Given the description of an element on the screen output the (x, y) to click on. 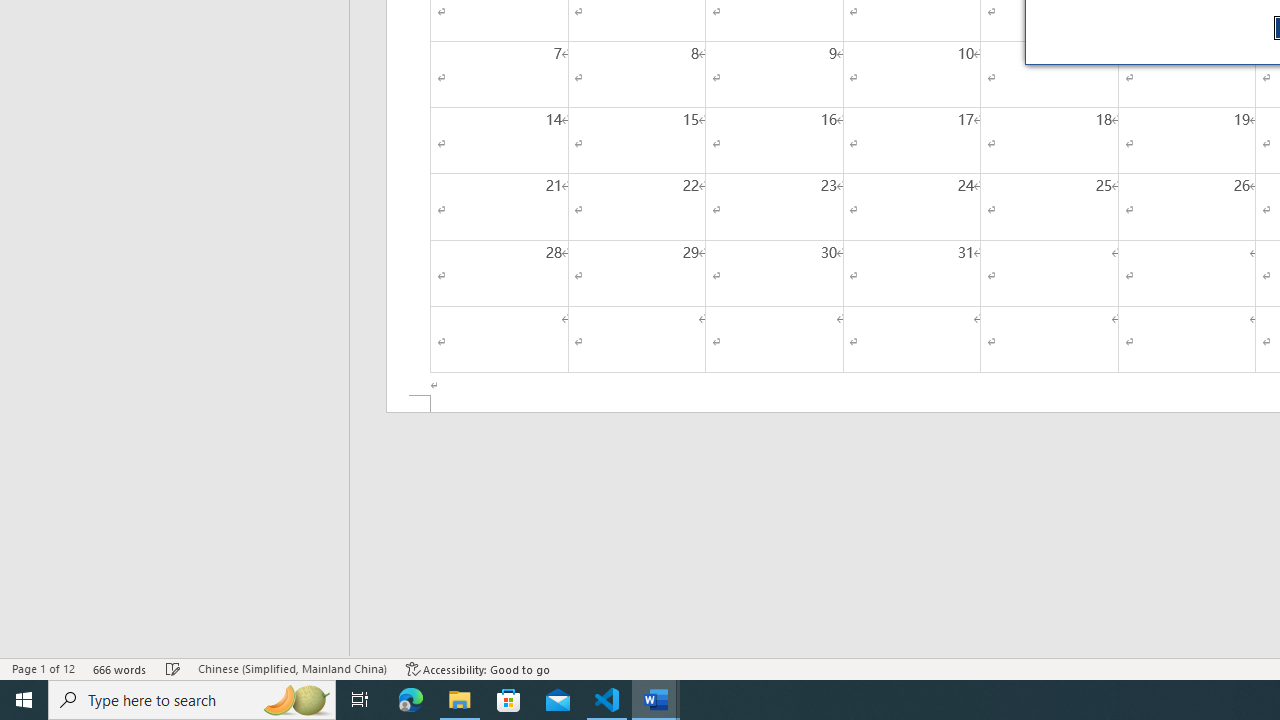
Page Number Page 1 of 12 (43, 668)
